Given the description of an element on the screen output the (x, y) to click on. 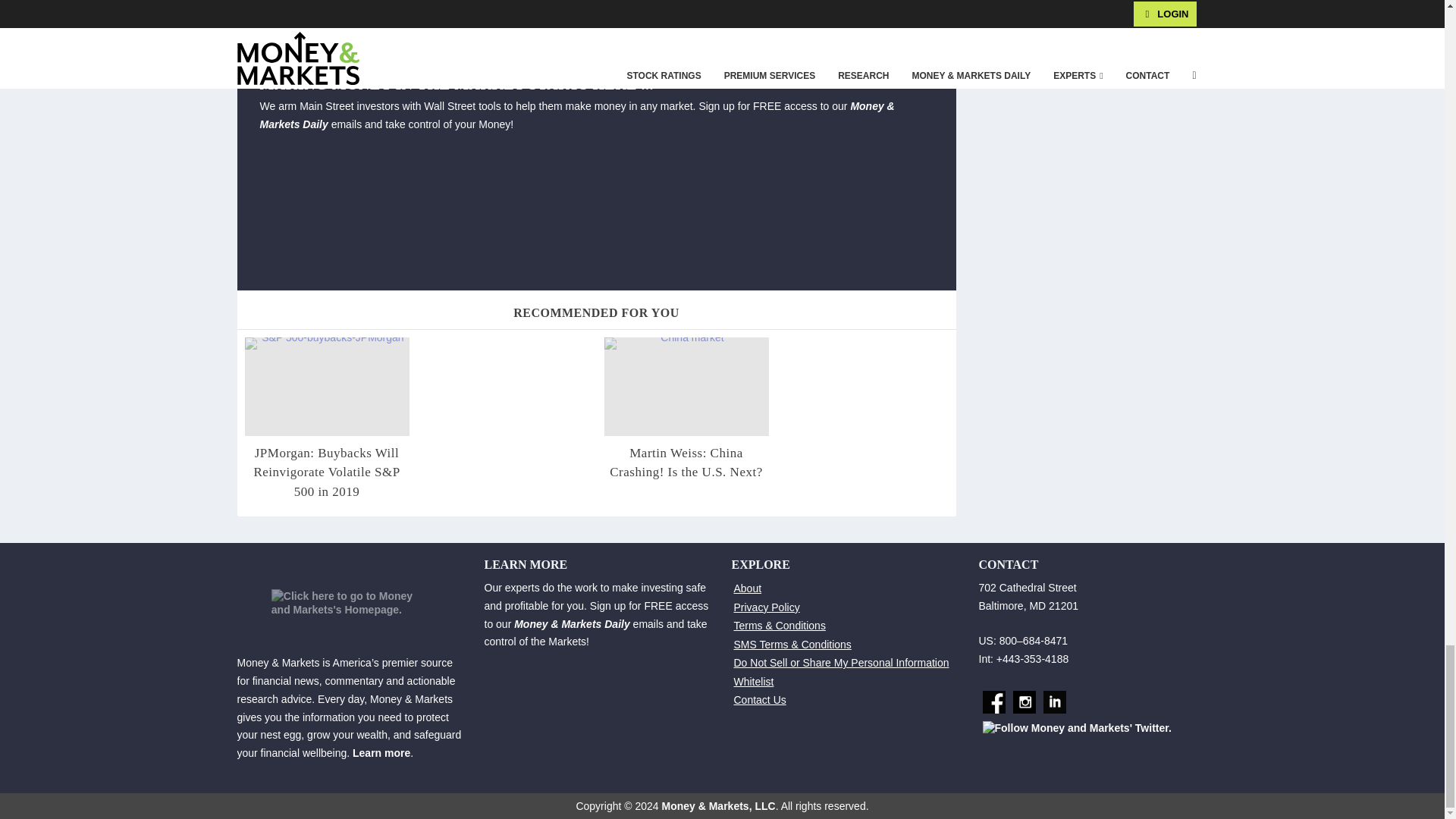
Learn more (381, 752)
Martin Weiss: China Crashing! Is the U.S. Next? (685, 462)
Martin Weiss: China Crashing! Is the U.S. Next? (686, 386)
Martin Weiss: China Crashing! Is the U.S. Next? (685, 462)
Privacy Policy (766, 606)
Whitelist (753, 681)
About (747, 588)
Contact Us (759, 699)
Do Not Sell or Share My Personal Information (841, 662)
